Given the description of an element on the screen output the (x, y) to click on. 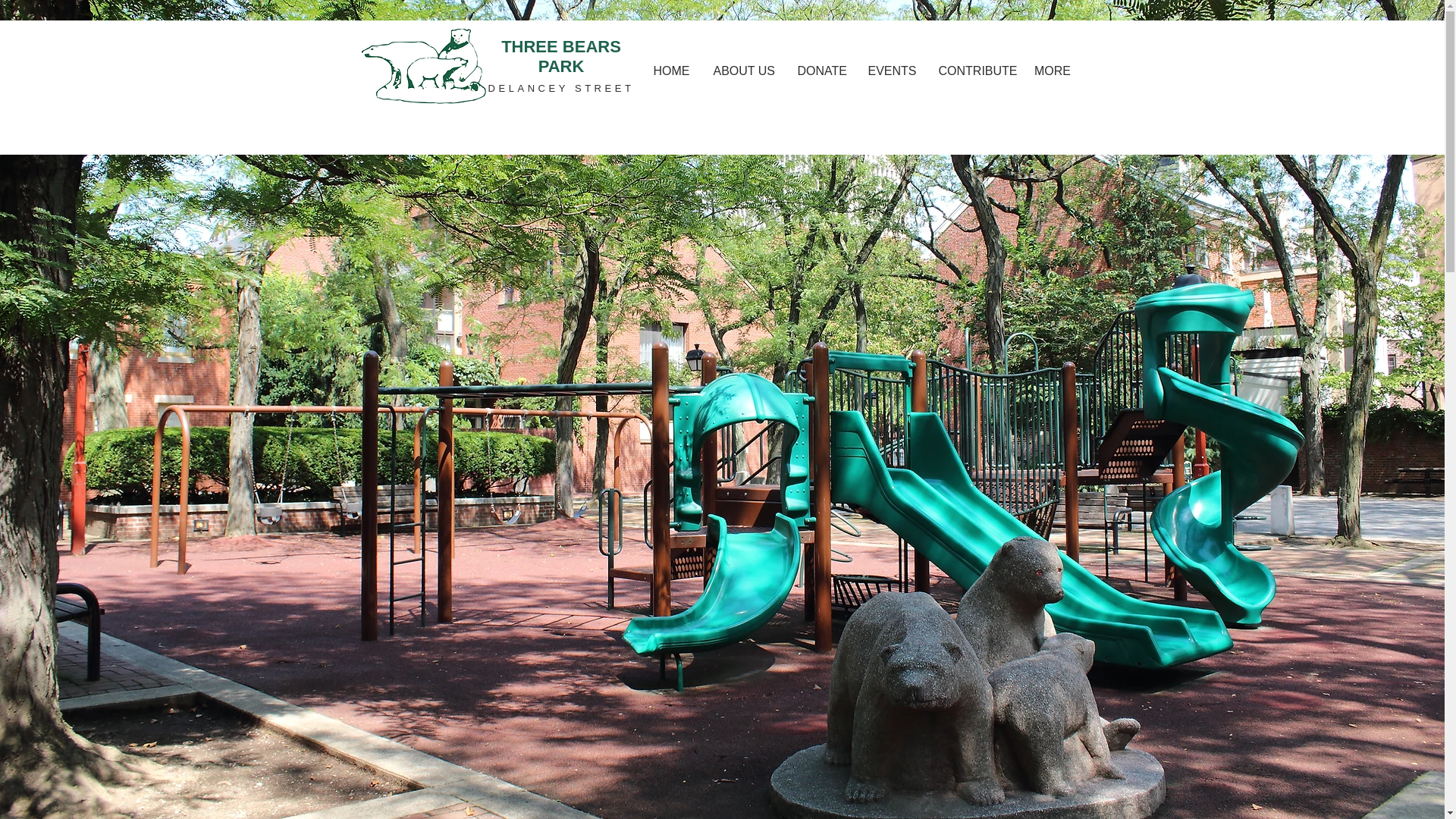
THREE BEARS PARK (560, 56)
HOME (671, 71)
DONATE (821, 71)
CONTRIBUTE (974, 71)
ABOUT US (743, 71)
EVENTS (892, 71)
